Given the description of an element on the screen output the (x, y) to click on. 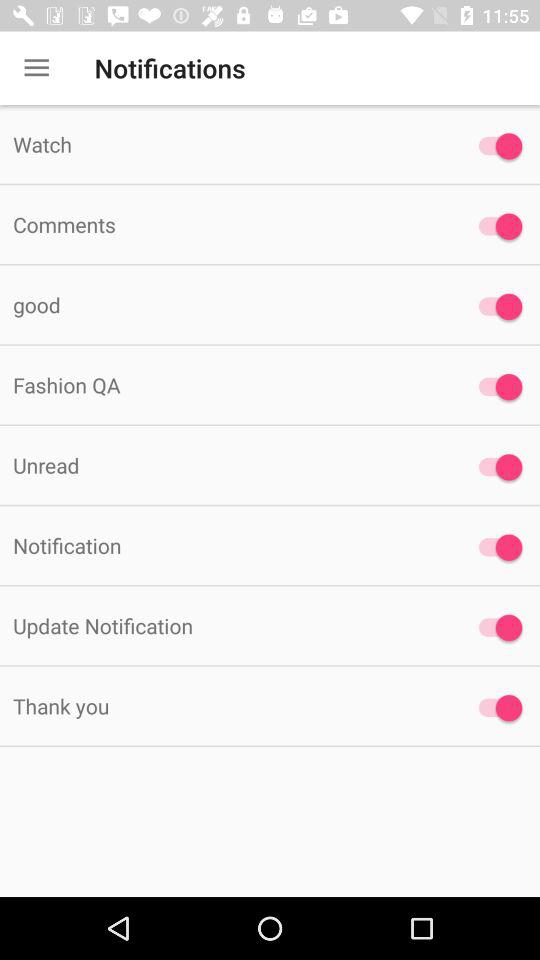
turn off thank you item (225, 705)
